Given the description of an element on the screen output the (x, y) to click on. 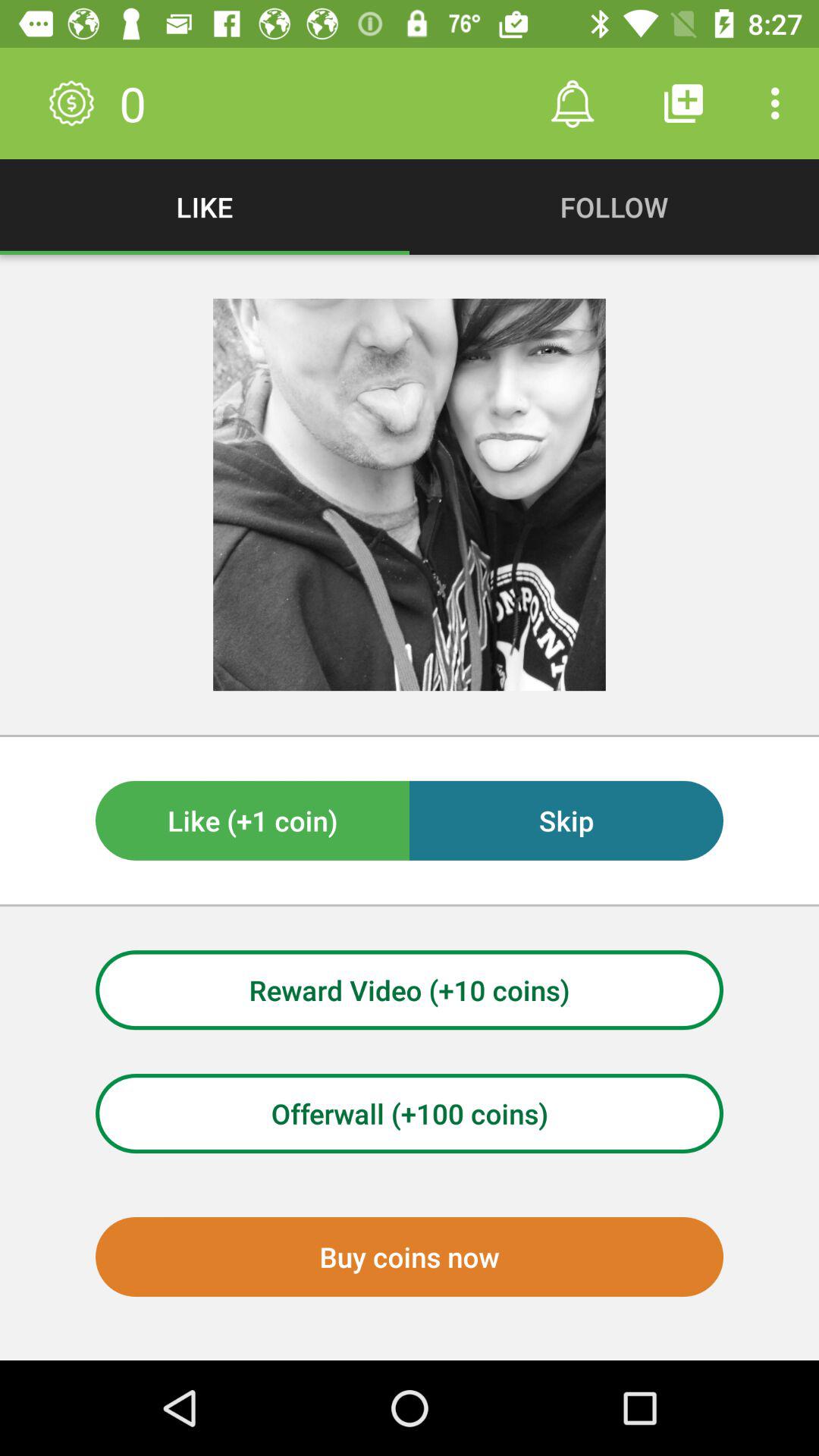
select the image (409, 494)
